Given the description of an element on the screen output the (x, y) to click on. 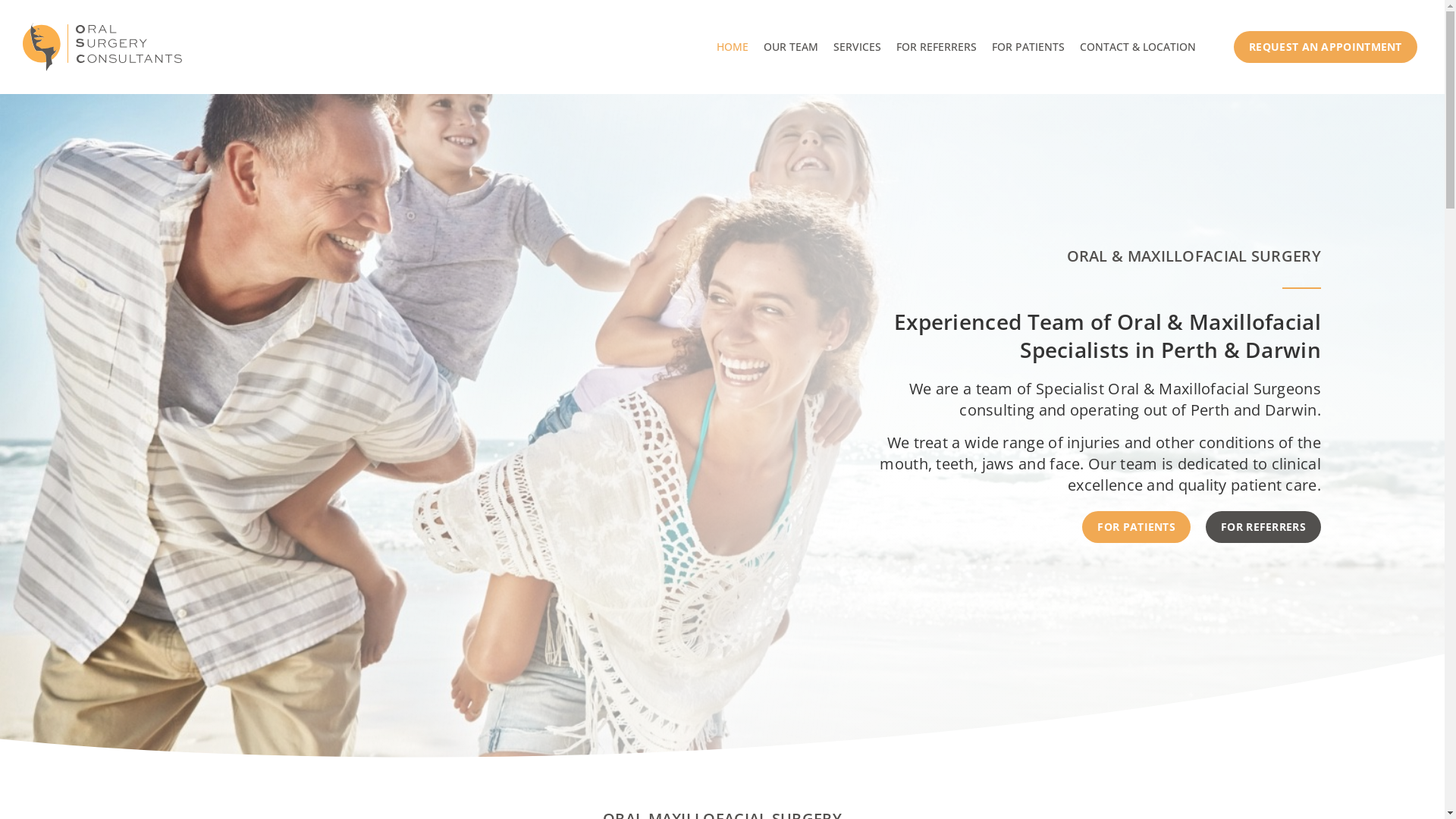
REQUEST AN APPOINTMENT Element type: text (1325, 46)
FOR PATIENTS Element type: text (1136, 526)
SERVICES Element type: text (857, 46)
CONTACT & LOCATION Element type: text (1137, 46)
FOR REFERRERS Element type: text (936, 46)
OUR TEAM Element type: text (790, 46)
FOR REFERRERS Element type: text (1263, 526)
FOR PATIENTS Element type: text (1027, 46)
HOME Element type: text (732, 46)
